Given the description of an element on the screen output the (x, y) to click on. 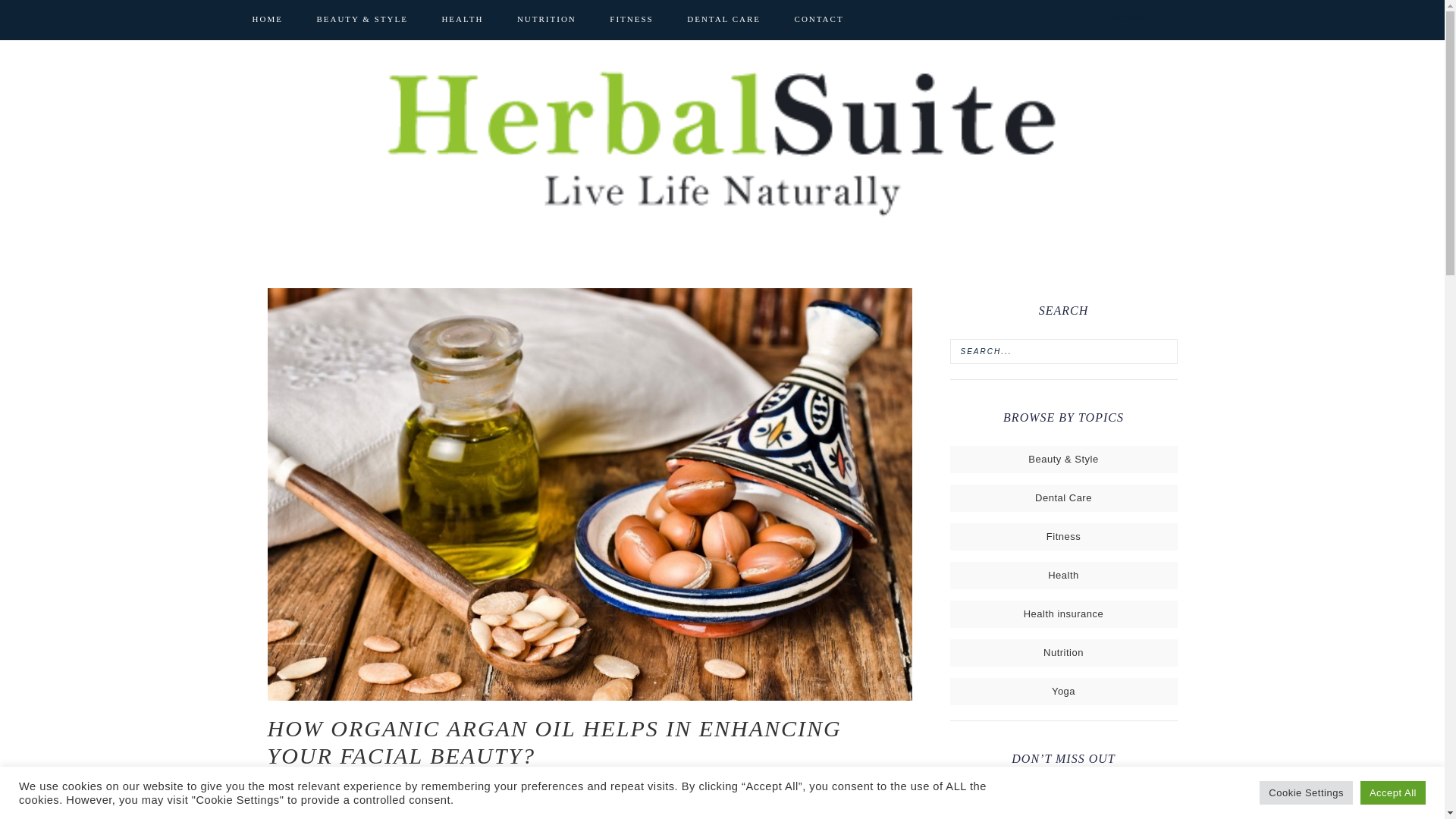
Charles Michel (360, 789)
Yoga (1063, 690)
Fitness (1063, 536)
CONTACT (818, 19)
Nutrition (1063, 652)
Health (1063, 574)
